Given the description of an element on the screen output the (x, y) to click on. 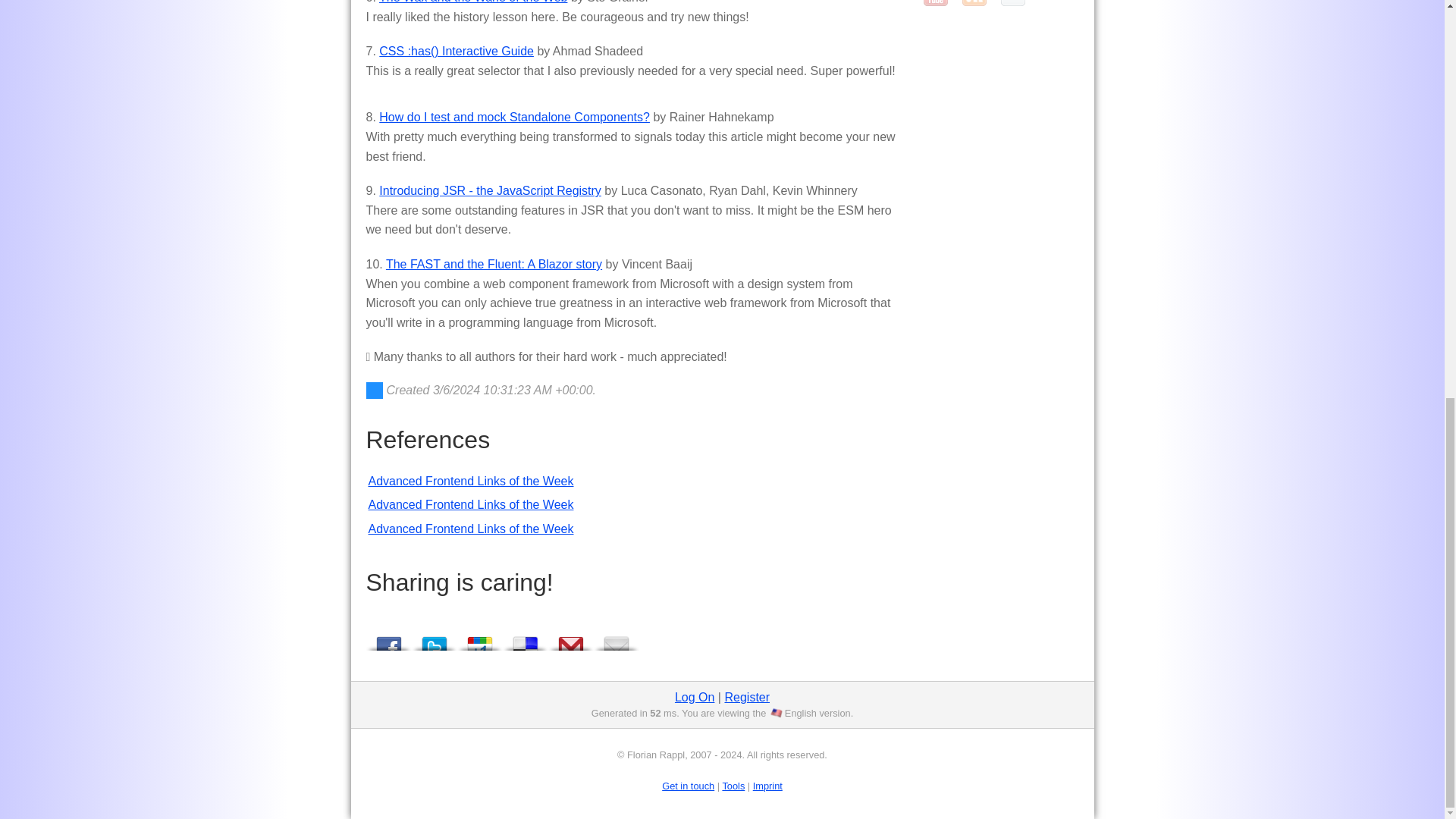
Post to Delicious (524, 639)
Advanced Frontend Links of the Week (470, 528)
Post to Twitter (433, 639)
Send via Gmail (569, 639)
Post to Facebook (387, 639)
Introducing JSR - the JavaScript Registry (489, 190)
The Wax and the Wane of the Web (472, 2)
Advanced Frontend Links of the Week (470, 504)
How do I test and mock Standalone Components? (513, 116)
Send via Shareaholic Mail (615, 639)
